Given the description of an element on the screen output the (x, y) to click on. 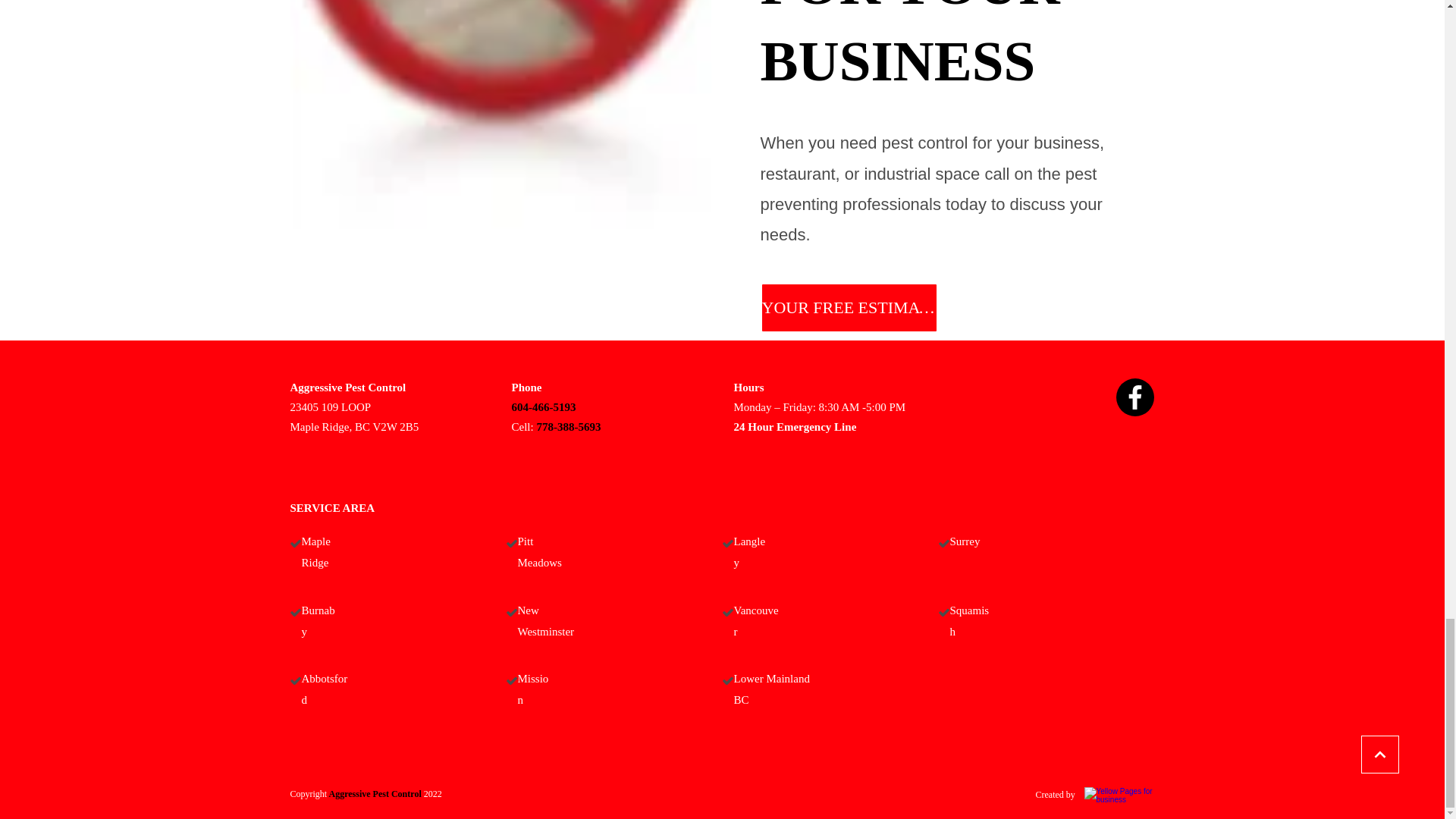
Aggressive Pest Control (374, 793)
YOUR FREE ESTIMATE (848, 307)
778-388-5693 (567, 426)
604-466-5193 (543, 407)
